Given the description of an element on the screen output the (x, y) to click on. 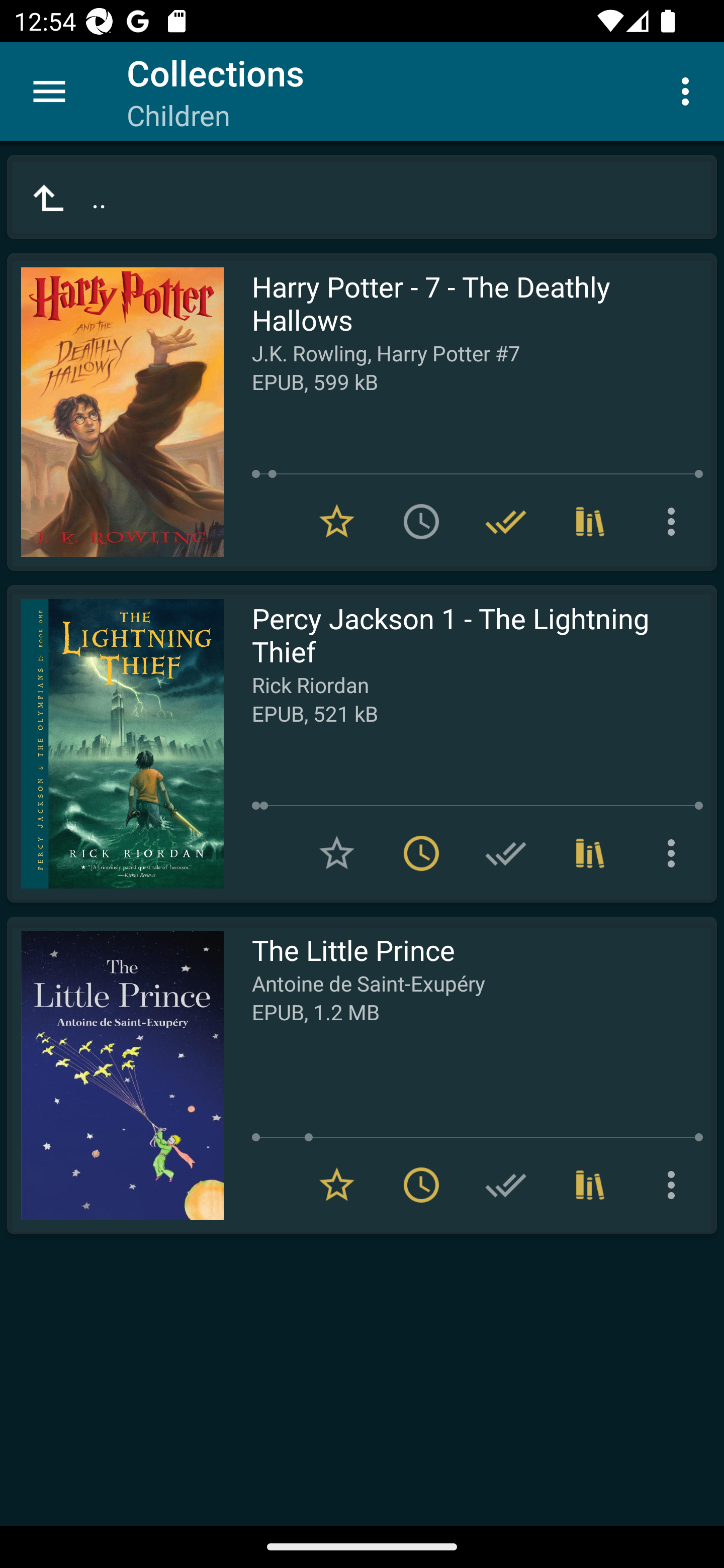
Menu (49, 91)
More options (688, 90)
.. (361, 197)
Read Harry Potter - 7 - The Deathly Hallows (115, 412)
Remove from Favorites (336, 521)
Add to To read (421, 521)
Remove from Have read (505, 521)
Collections (3) (590, 521)
More options (674, 521)
Read Percy Jackson 1 - The Lightning Thief (115, 743)
Add to Favorites (336, 852)
Remove from To read (421, 852)
Add to Have read (505, 852)
Collections (1) (590, 852)
More options (674, 852)
Read The Little Prince (115, 1075)
Remove from Favorites (336, 1185)
Remove from To read (421, 1185)
Add to Have read (505, 1185)
Collections (1) (590, 1185)
More options (674, 1185)
